Given the description of an element on the screen output the (x, y) to click on. 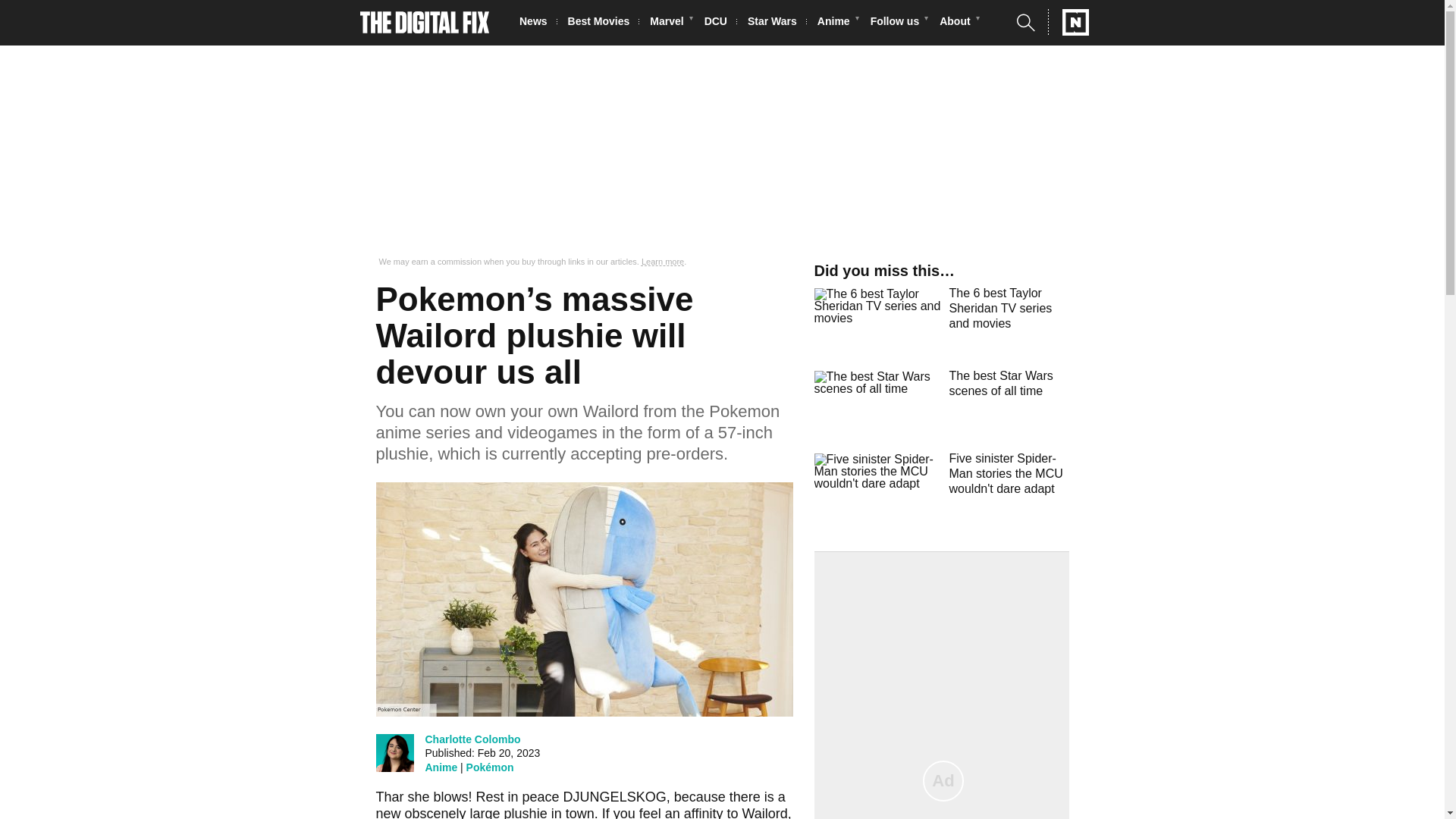
Network N Media (1068, 22)
Anime (837, 22)
Star Wars News (777, 22)
Marvel (671, 22)
Anime News (837, 22)
Best Movies (603, 22)
Charlotte Colombo (472, 739)
Follow us (899, 22)
Star Wars (777, 22)
The Digital Fix (424, 22)
Learn more (663, 261)
Anime (441, 767)
Marvel Cinematic Universe News (671, 22)
